Given the description of an element on the screen output the (x, y) to click on. 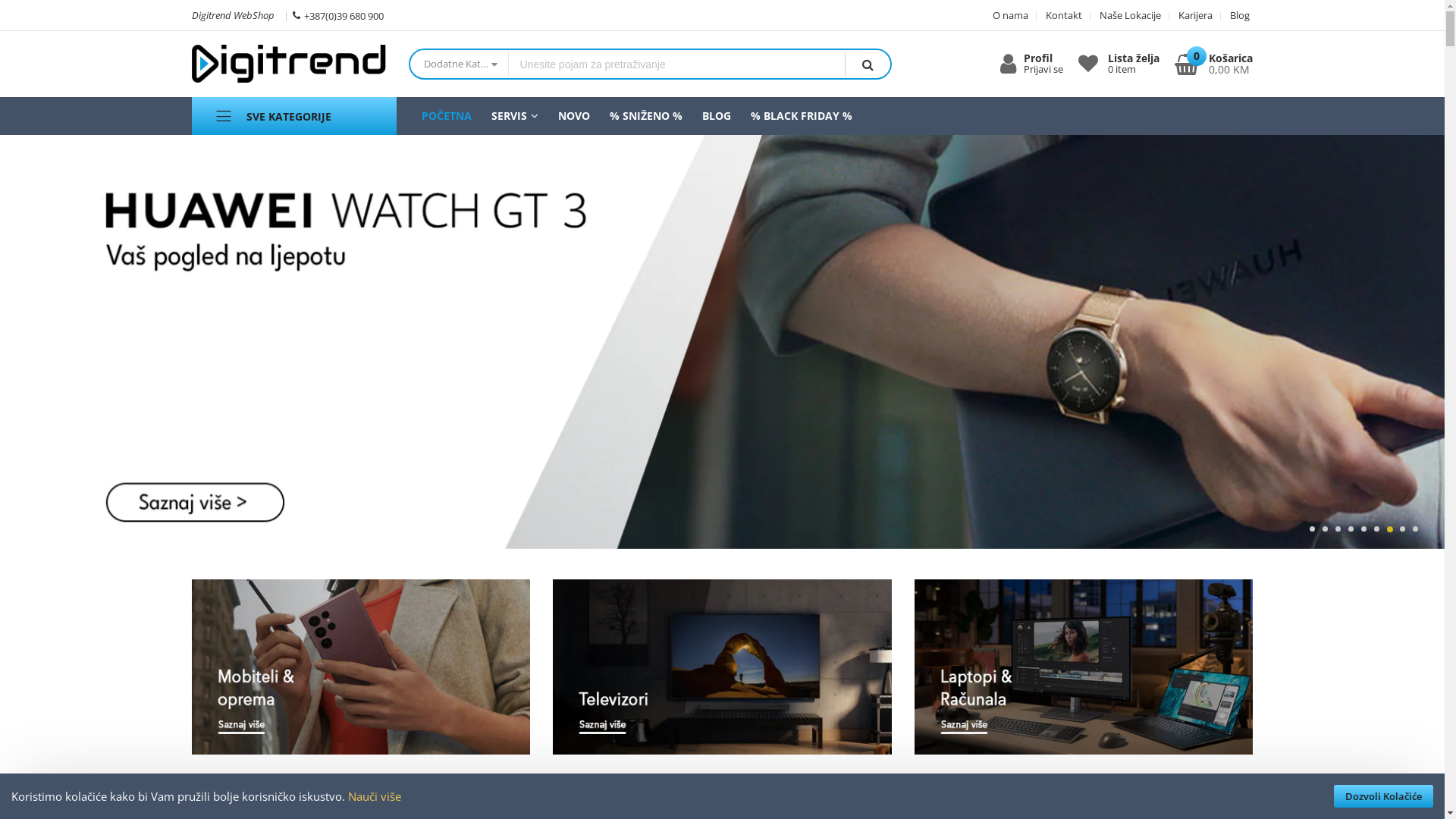
SERVIS Element type: text (513, 115)
3 Element type: text (1337, 528)
1 Element type: text (1311, 528)
% BLACK FRIDAY % Element type: text (800, 115)
5 Element type: text (1363, 528)
8 Element type: text (1402, 528)
Digitrend Element type: hover (288, 63)
Kontakt Element type: text (1058, 15)
O nama Element type: text (1010, 15)
7 Element type: text (1389, 528)
Karijera Element type: text (1190, 15)
NOVO Element type: text (573, 115)
Blog Element type: text (1234, 15)
4 Element type: text (1350, 528)
BLOG Element type: text (715, 115)
6 Element type: text (1376, 528)
2 Element type: text (1324, 528)
Samsung Galaxy Z Flip5 Element type: hover (722, 341)
+387(0)39 680 900 Element type: text (337, 14)
9 Element type: text (1415, 528)
